Given the description of an element on the screen output the (x, y) to click on. 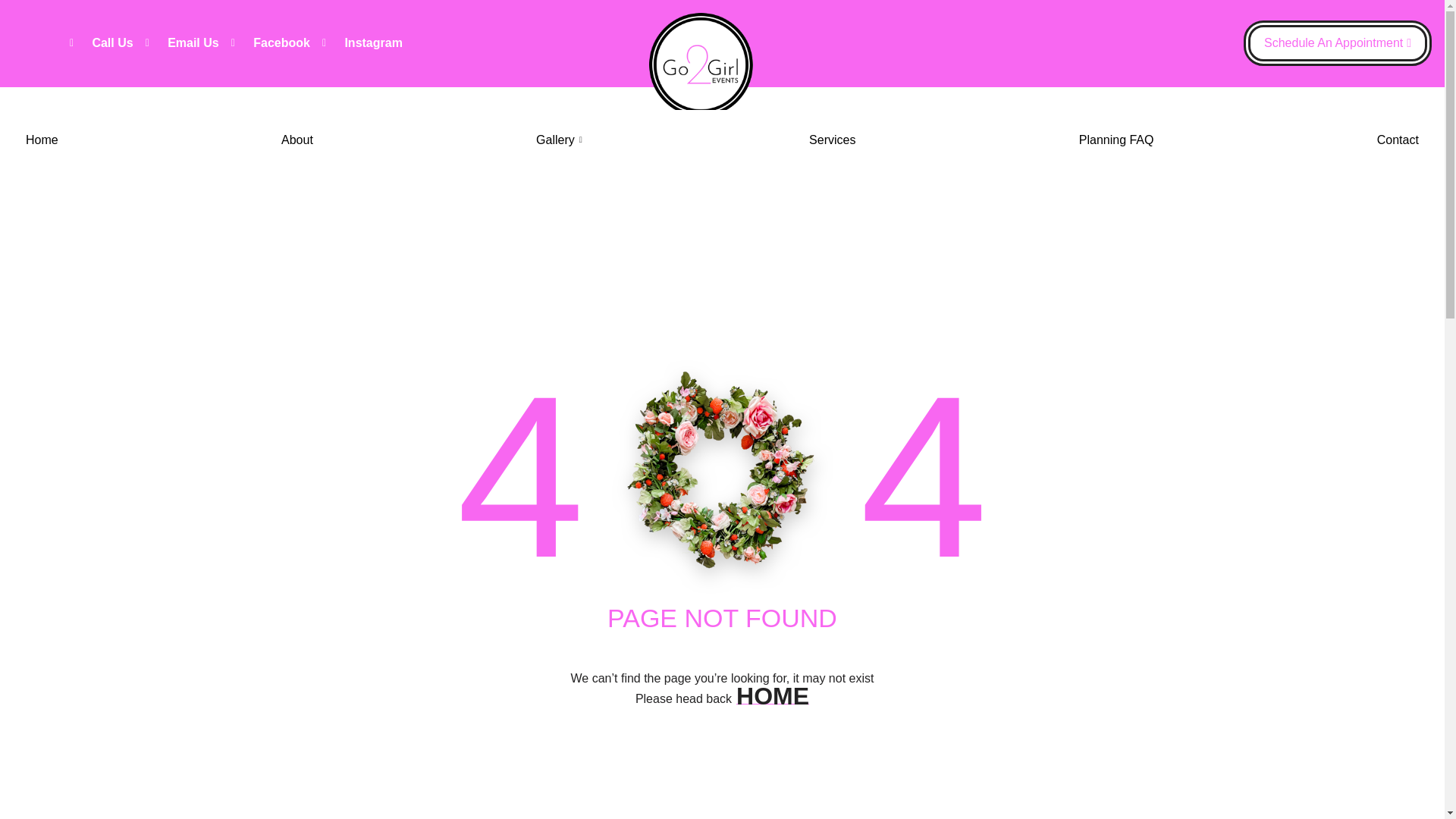
Gallery (560, 139)
Home (41, 139)
Facebook (270, 43)
Call Us (101, 43)
Schedule An Appointment (1337, 43)
Services (831, 139)
Instagram (362, 43)
About (296, 139)
HOME (772, 696)
Contact (1397, 139)
Email Us (182, 43)
Planning FAQ (1116, 139)
